Given the description of an element on the screen output the (x, y) to click on. 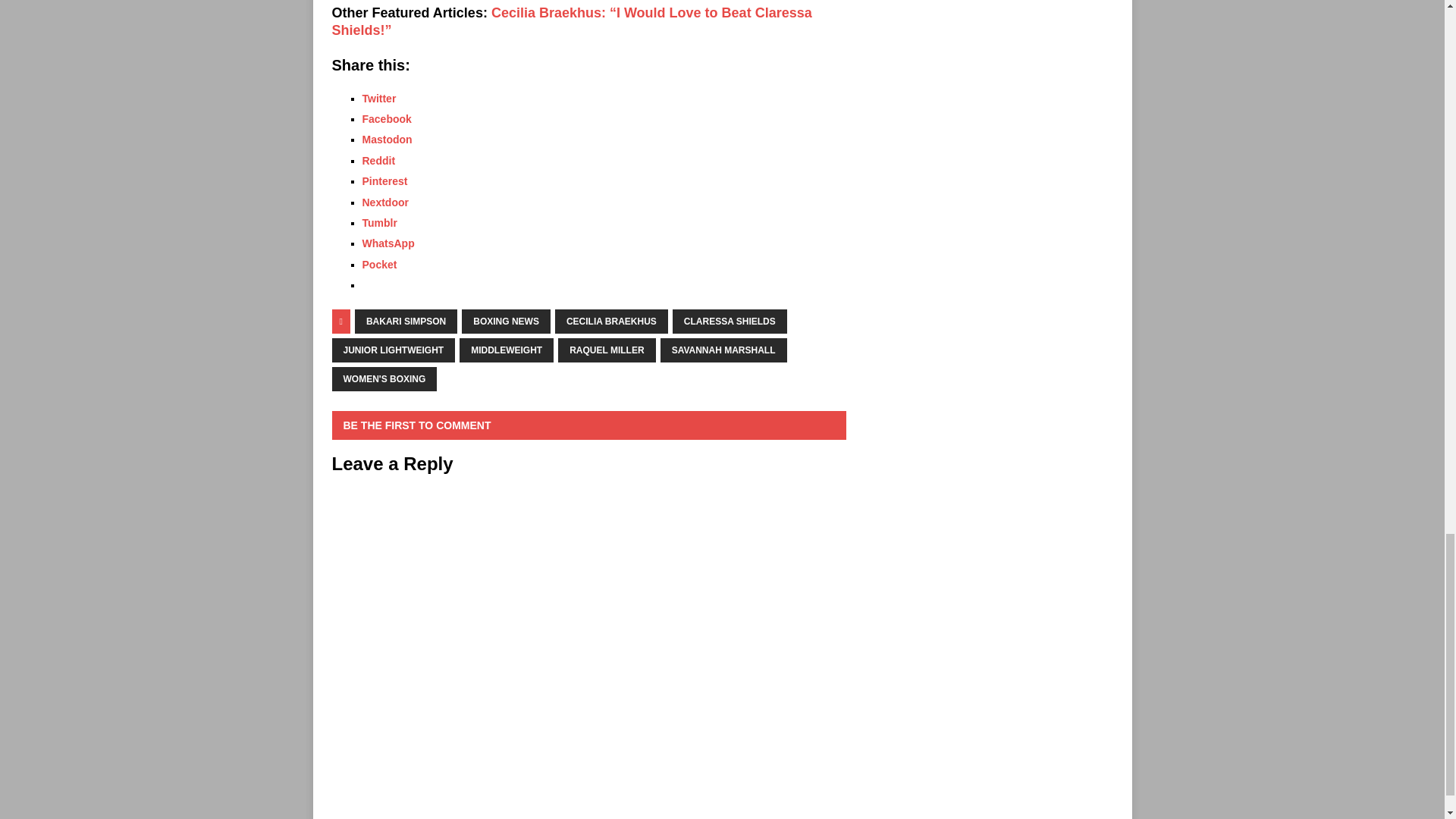
Facebook (387, 119)
Twitter (379, 98)
Mastodon (387, 139)
